Given the description of an element on the screen output the (x, y) to click on. 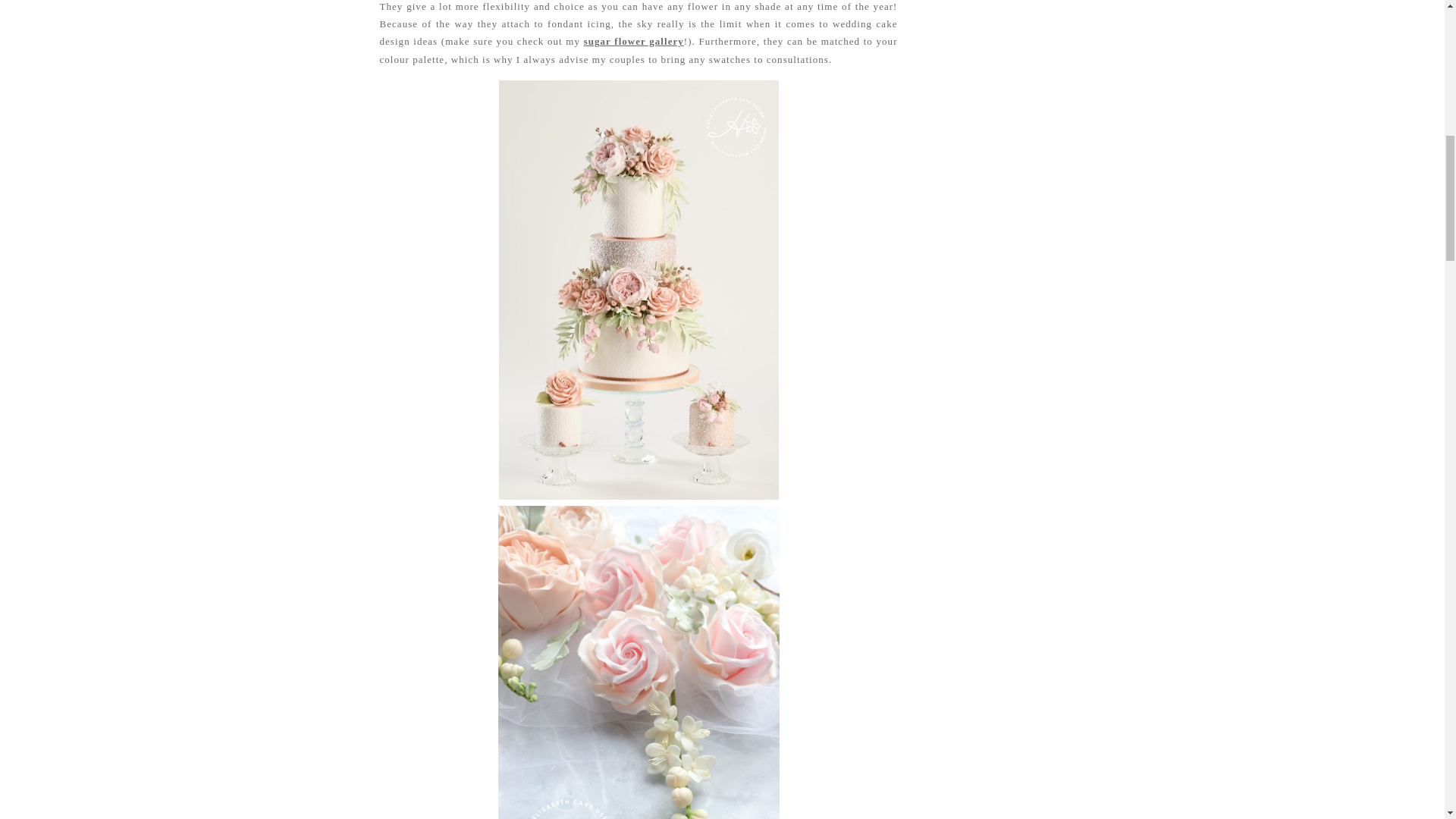
sugar flower gallery (633, 41)
